Given the description of an element on the screen output the (x, y) to click on. 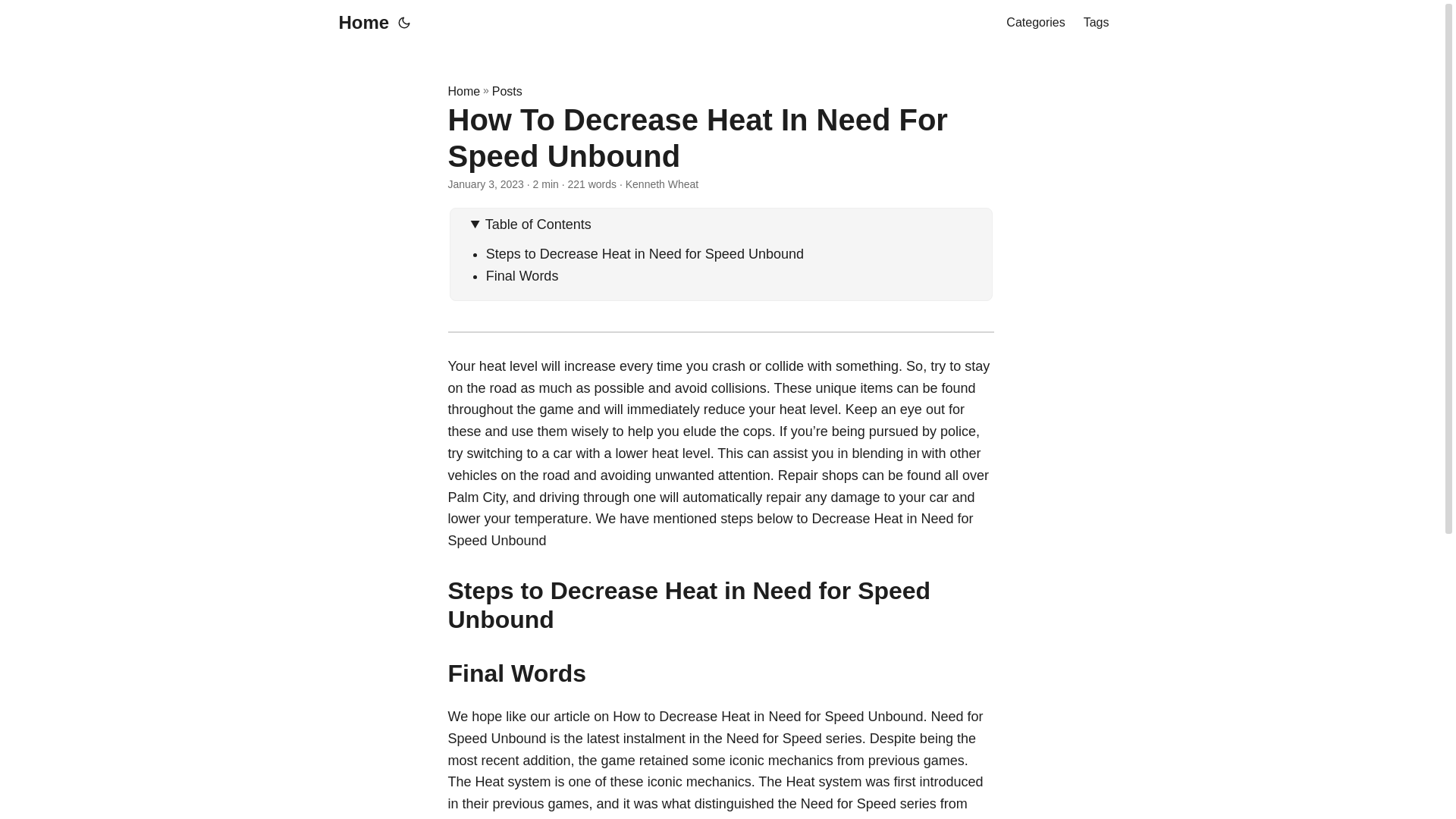
Posts (507, 91)
Home (463, 91)
Home (359, 22)
Final Words (522, 275)
Steps to Decrease Heat in Need for Speed Unbound (644, 253)
Categories (1035, 22)
Categories (1035, 22)
